Given the description of an element on the screen output the (x, y) to click on. 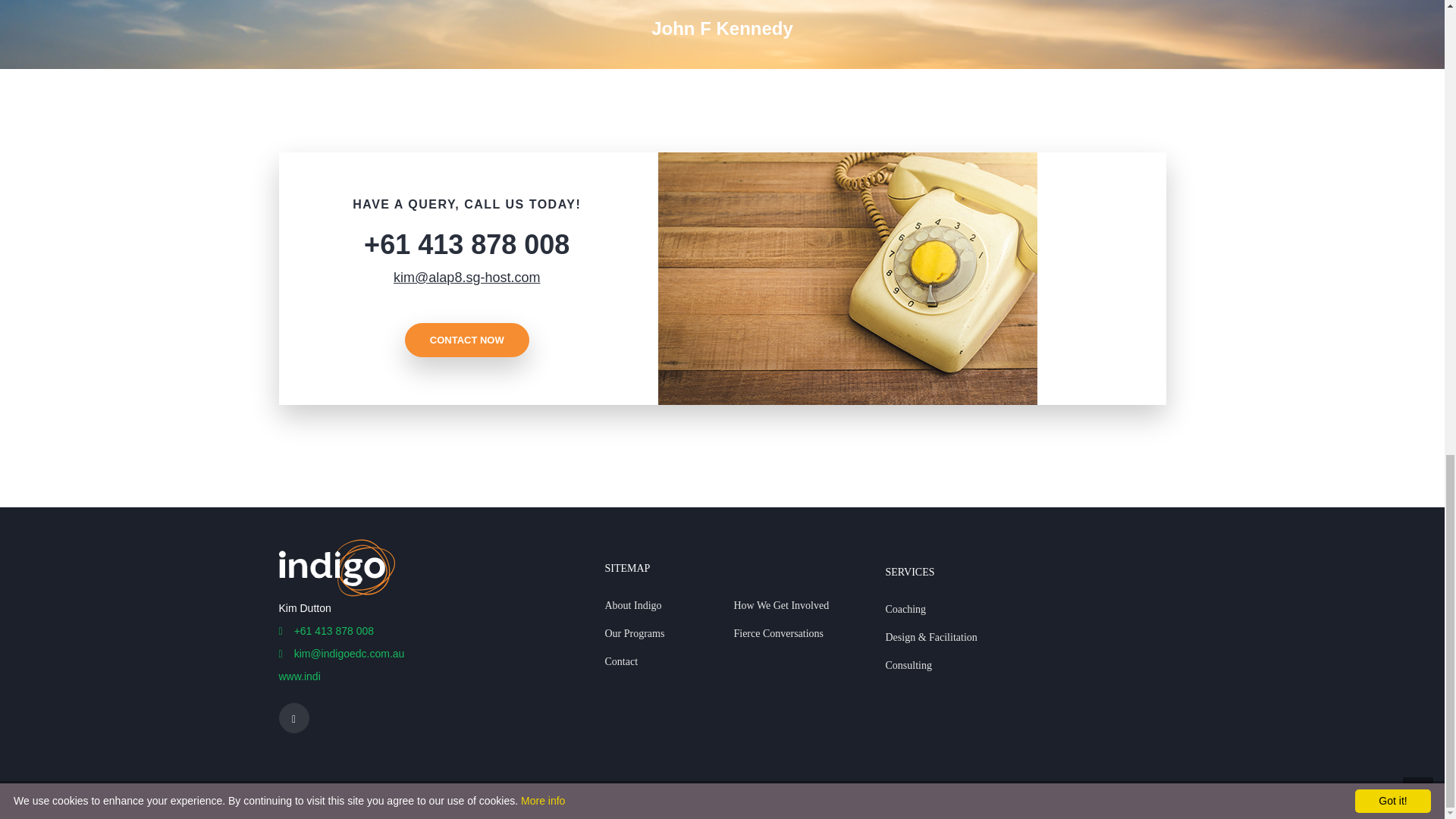
HAVE A QUERY, CALL US TODAY! (466, 204)
CONTACT NOW (466, 339)
About Indigo (668, 605)
LinkedIn (293, 717)
Our Programs (668, 633)
Fierce Conversations (797, 633)
How We Get Involved (797, 605)
